Given the description of an element on the screen output the (x, y) to click on. 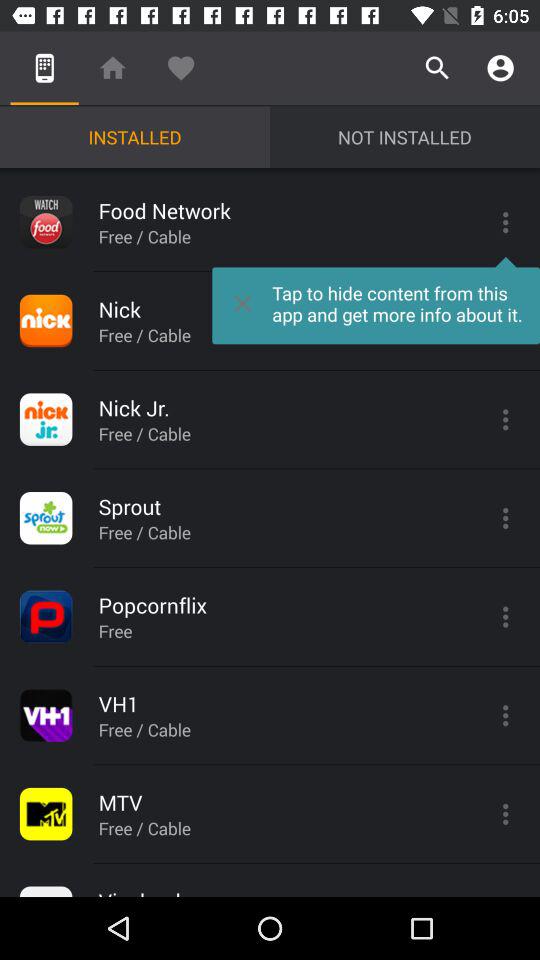
turn off tap to hide (376, 300)
